Given the description of an element on the screen output the (x, y) to click on. 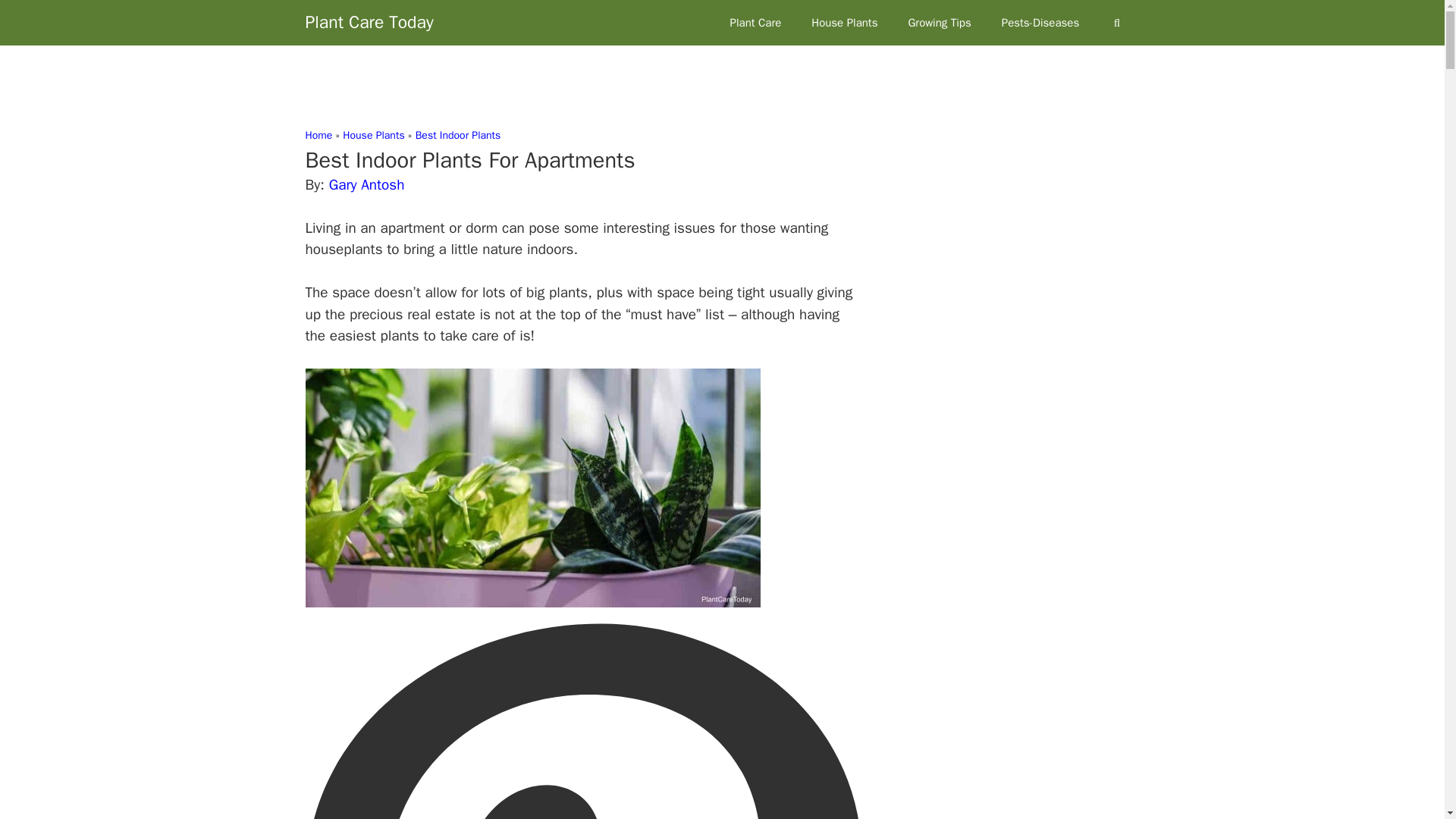
Plant Care Today (368, 22)
Plant Care (755, 22)
House Plants (844, 22)
Pests-Diseases (1040, 22)
Growing Tips (938, 22)
Gary Antosh (366, 185)
House Plants (373, 134)
Best Indoor Plants (457, 134)
Home (317, 134)
